Given the description of an element on the screen output the (x, y) to click on. 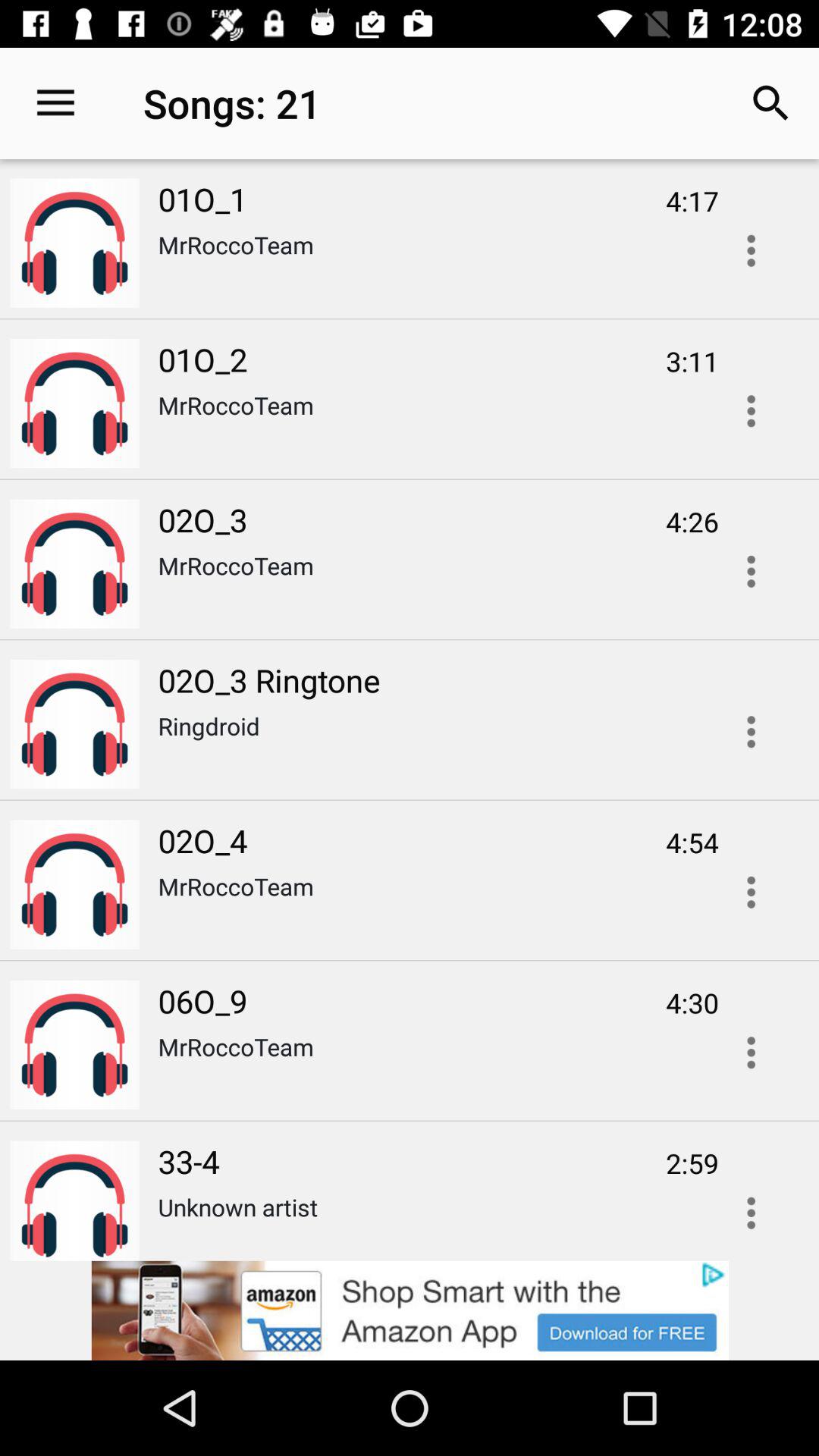
advertisement click (409, 1310)
